Given the description of an element on the screen output the (x, y) to click on. 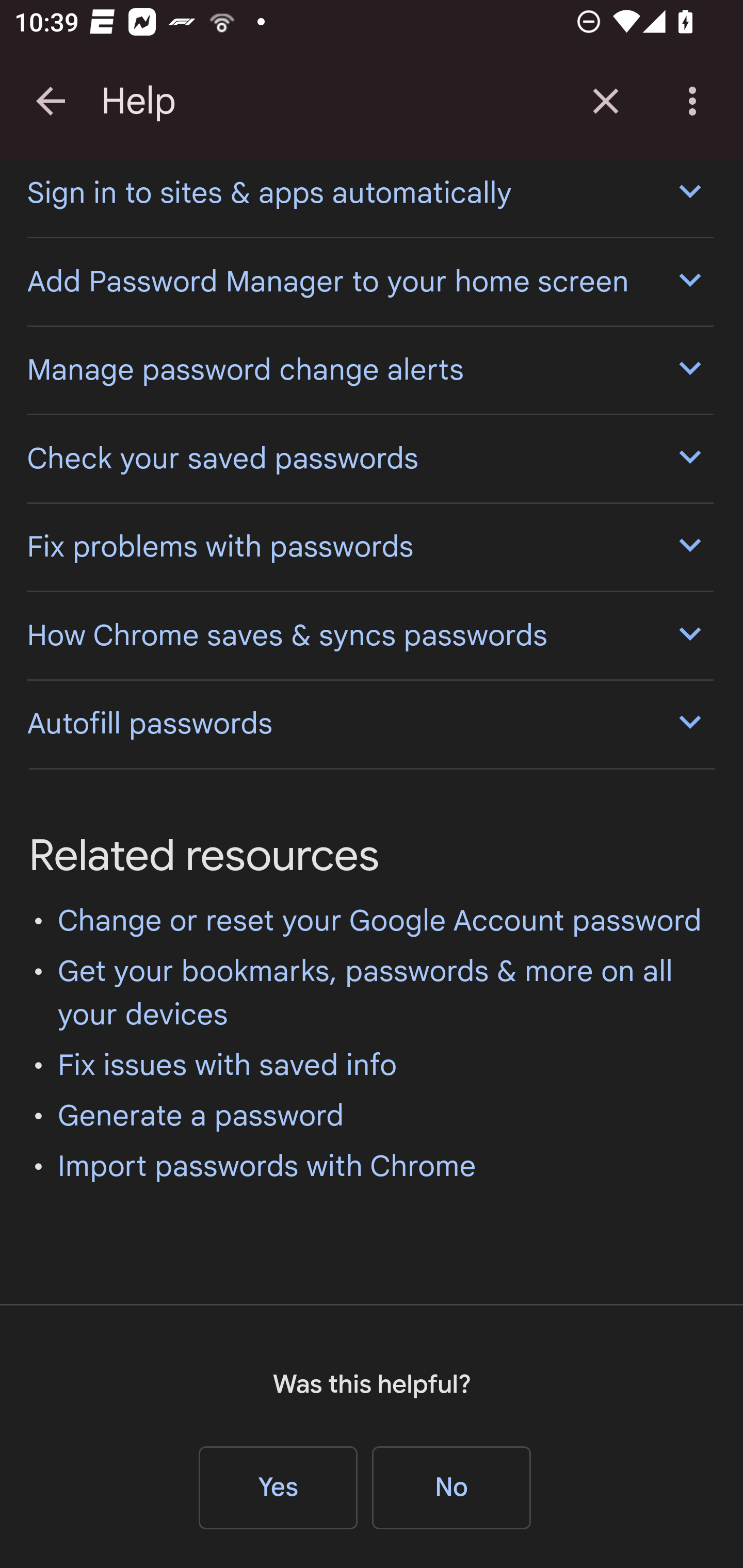
Navigate up (50, 101)
Return to Chrome (605, 101)
More options (696, 101)
Sign in to sites & apps automatically (369, 198)
Add Password Manager to your home screen (369, 283)
Manage password change alerts (369, 370)
Check your saved passwords (369, 459)
Fix problems with passwords (369, 547)
How Chrome saves & syncs passwords (369, 637)
Autofill passwords (369, 723)
Change or reset your Google Account password (379, 922)
Fix issues with saved info (227, 1066)
Generate a password (200, 1116)
Import passwords with Chrome (267, 1167)
Yes (Was this helpful?) (278, 1489)
No (Was this helpful?) (451, 1489)
